Given the description of an element on the screen output the (x, y) to click on. 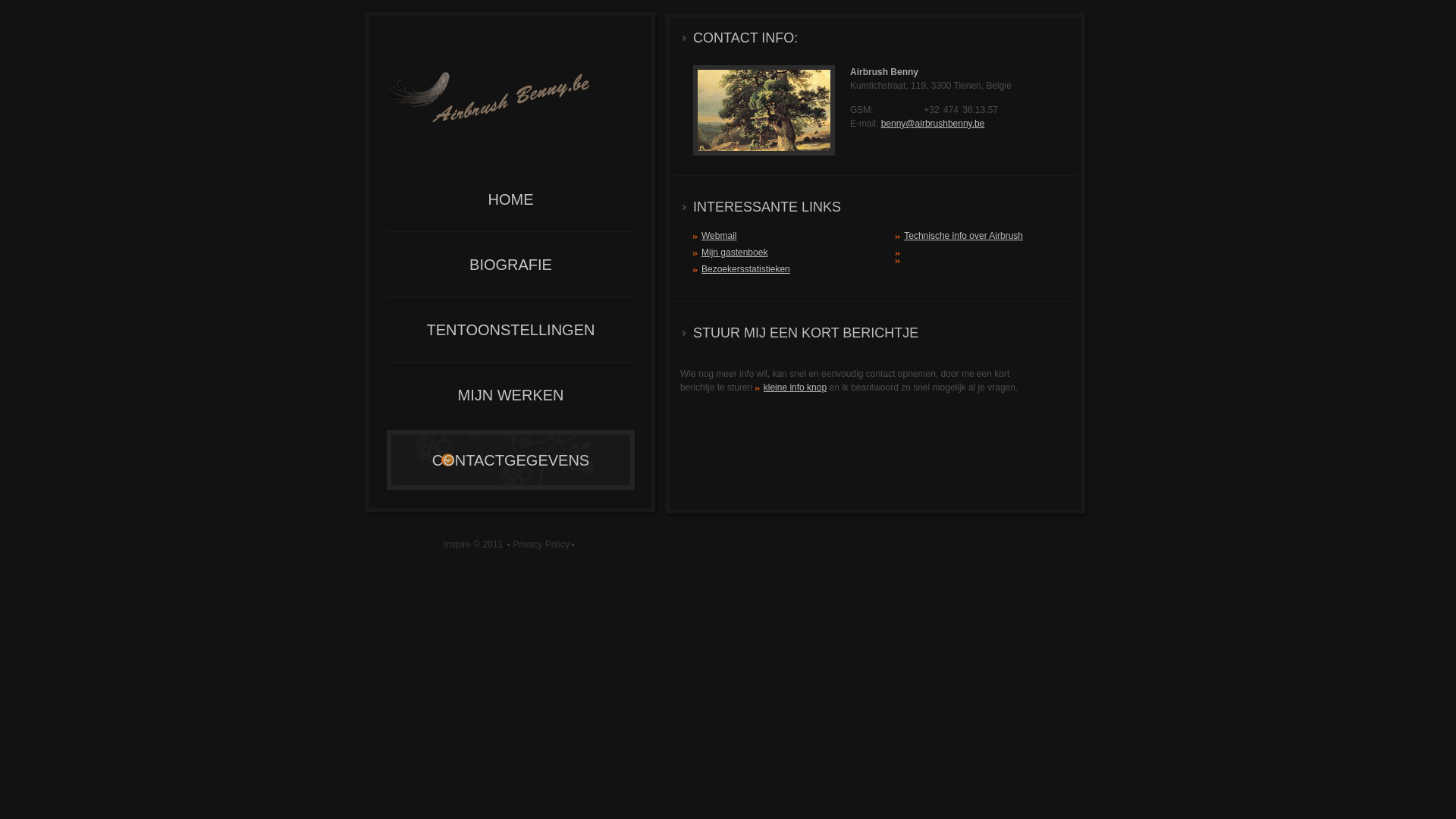
kleine info knop Element type: text (790, 387)
Webmail Element type: text (718, 235)
MIJN WERKEN Element type: text (510, 394)
TENTOONSTELLINGEN Element type: text (510, 329)
CONTACTGEGEVENS Element type: text (510, 459)
Mijn gastenboek Element type: text (734, 252)
Technische info over Airbrush Element type: text (962, 235)
Bezoekersstatistieken Element type: text (745, 268)
HOME Element type: text (510, 198)
BIOGRAFIE Element type: text (510, 264)
benny@airbrushbenny.be Element type: text (933, 123)
Privacy Policy Element type: text (538, 544)
